Given the description of an element on the screen output the (x, y) to click on. 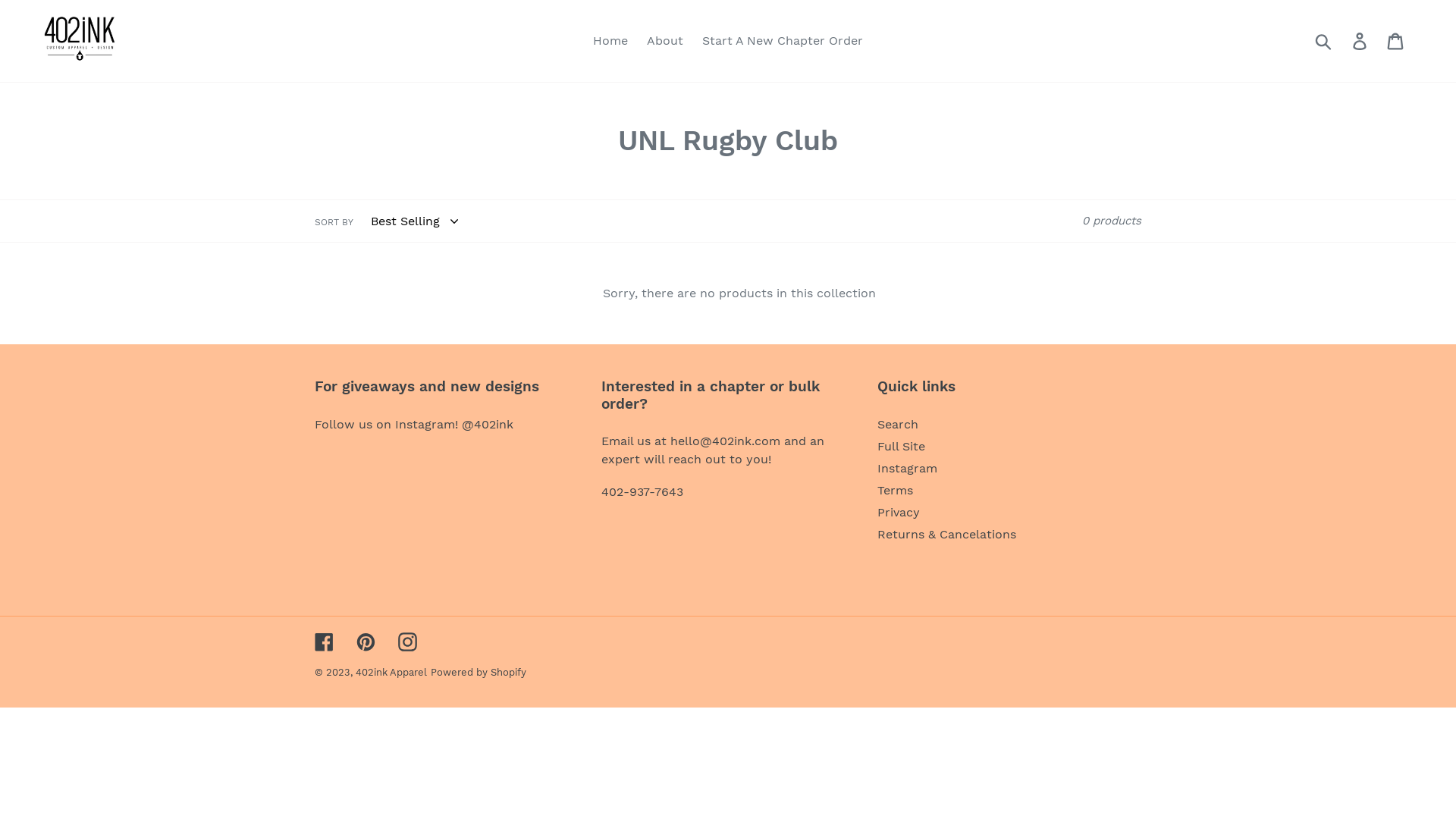
Facebook Element type: text (323, 641)
Search Element type: text (897, 424)
Pinterest Element type: text (365, 641)
Start A New Chapter Order Element type: text (782, 40)
402ink Apparel Element type: text (390, 671)
Full Site Element type: text (901, 446)
Submit Element type: text (1324, 40)
Cart Element type: text (1396, 41)
About Element type: text (664, 40)
Instagram Element type: text (407, 641)
Returns & Cancelations Element type: text (946, 534)
Home Element type: text (610, 40)
Powered by Shopify Element type: text (478, 671)
Privacy Element type: text (898, 512)
Terms Element type: text (895, 490)
Log in Element type: text (1360, 41)
Instagram Element type: text (907, 468)
